Given the description of an element on the screen output the (x, y) to click on. 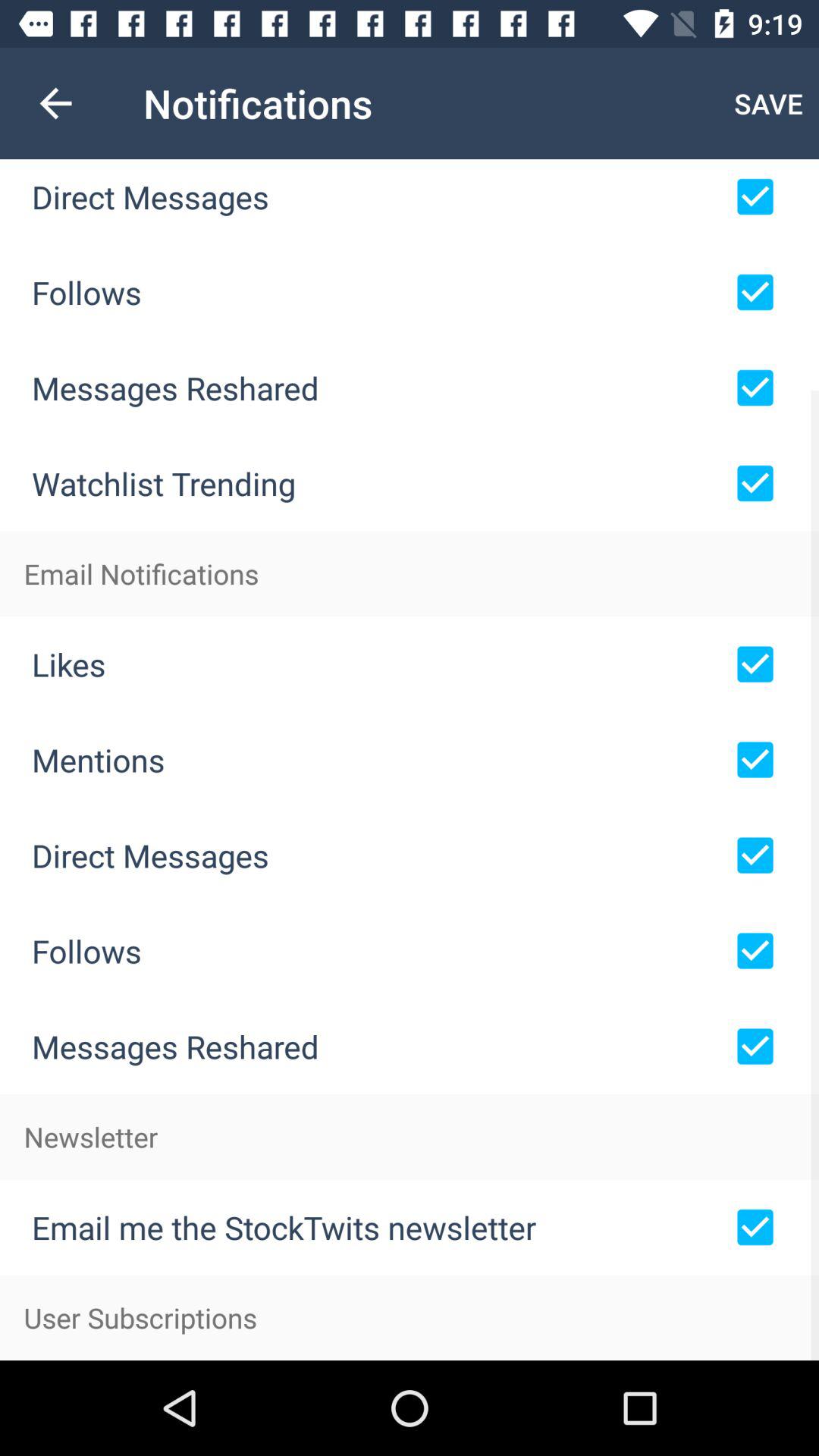
turn on icon to the left of notifications icon (55, 103)
